Given the description of an element on the screen output the (x, y) to click on. 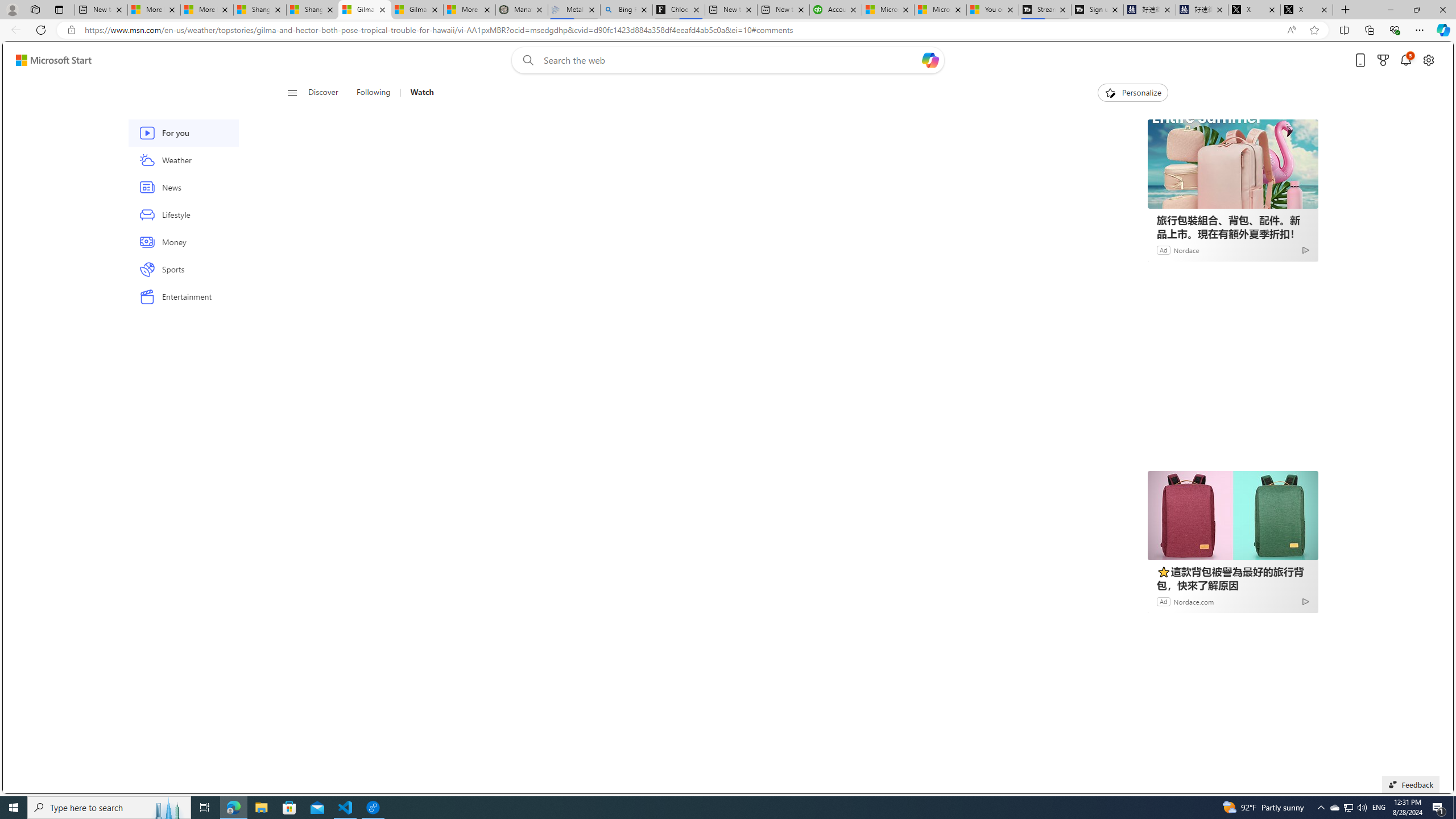
Chloe Sorvino (678, 9)
Manatee Mortality Statistics | FWC (521, 9)
Skip to content (49, 59)
Personalize (1132, 92)
Notifications (1405, 60)
Streaming Coverage | T3 (1044, 9)
